Given the description of an element on the screen output the (x, y) to click on. 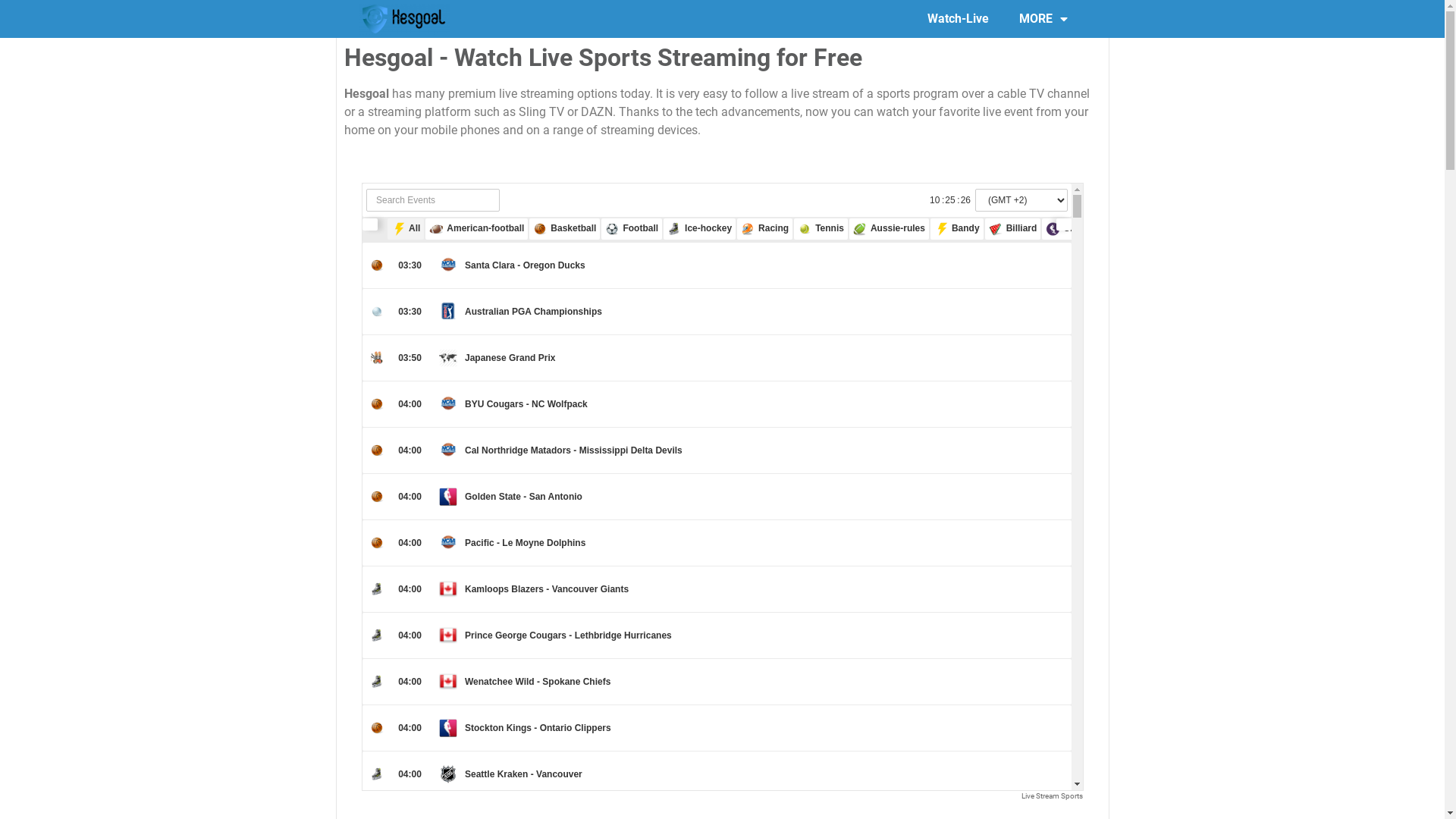
Live Stream Sports Element type: text (1051, 795)
Watch-Live Element type: text (958, 18)
MORE Element type: text (1043, 18)
